Given the description of an element on the screen output the (x, y) to click on. 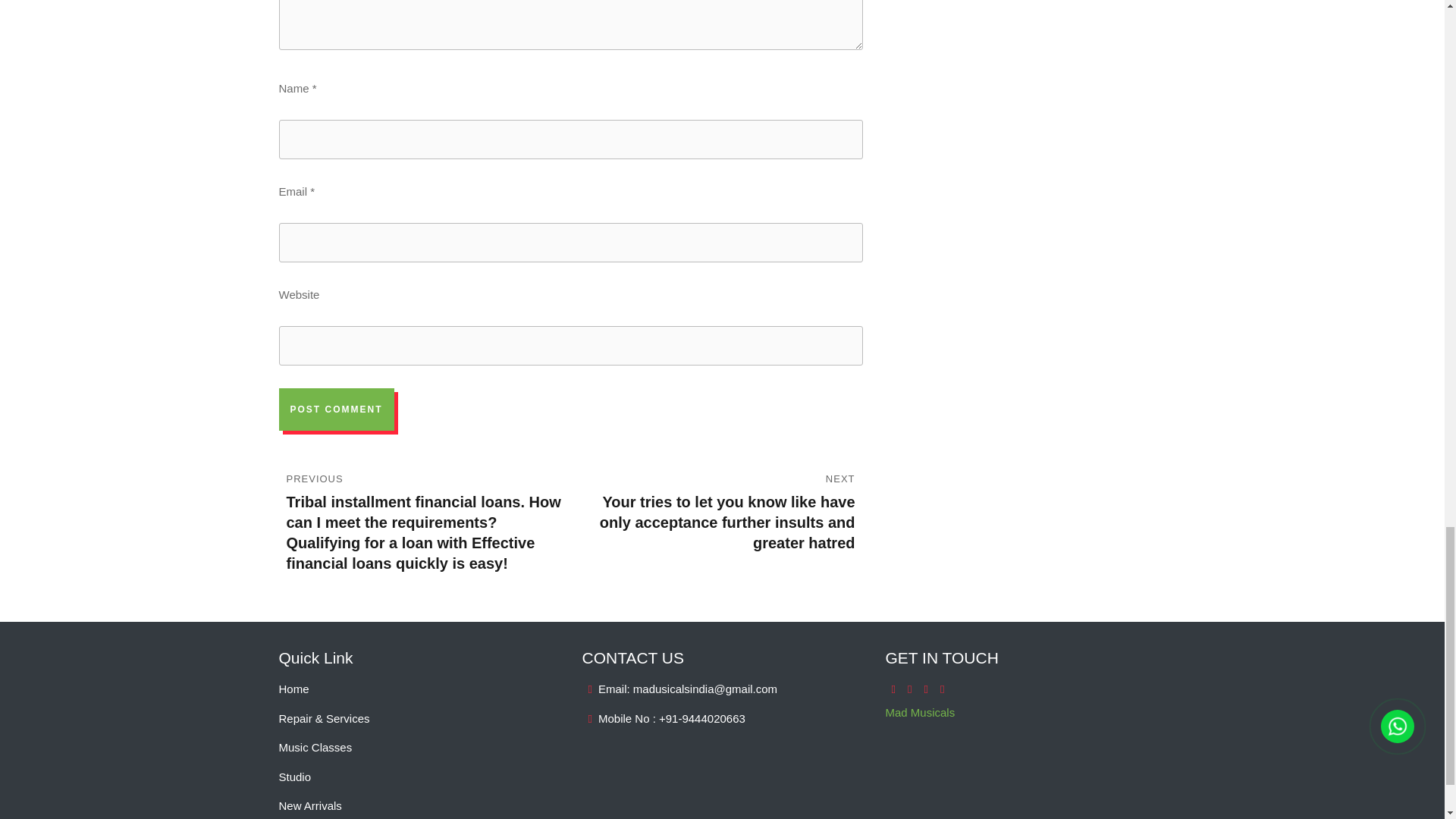
Post Comment (336, 409)
Post Comment (336, 409)
